Given the description of an element on the screen output the (x, y) to click on. 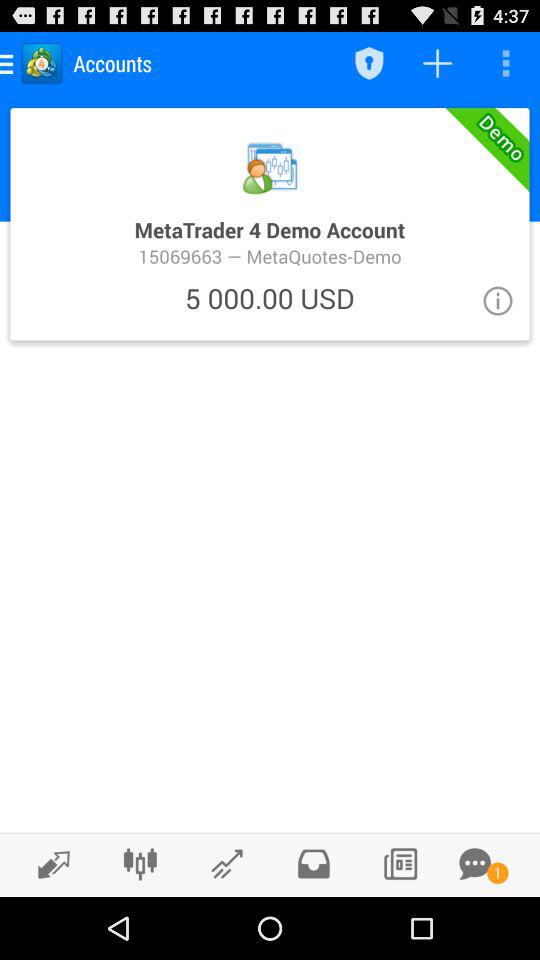
message window (475, 864)
